Given the description of an element on the screen output the (x, y) to click on. 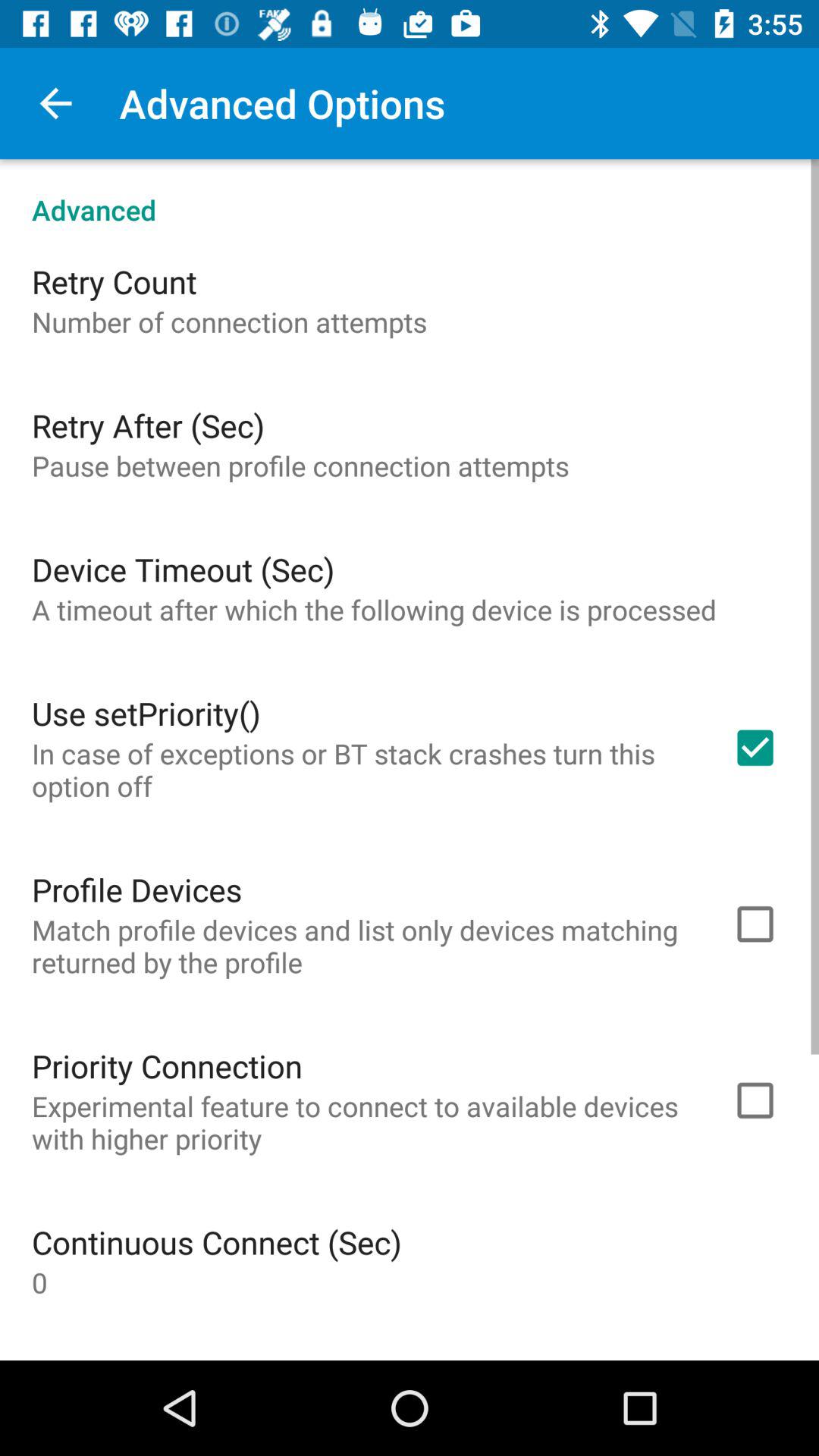
choose item next to the advanced options item (55, 103)
